Given the description of an element on the screen output the (x, y) to click on. 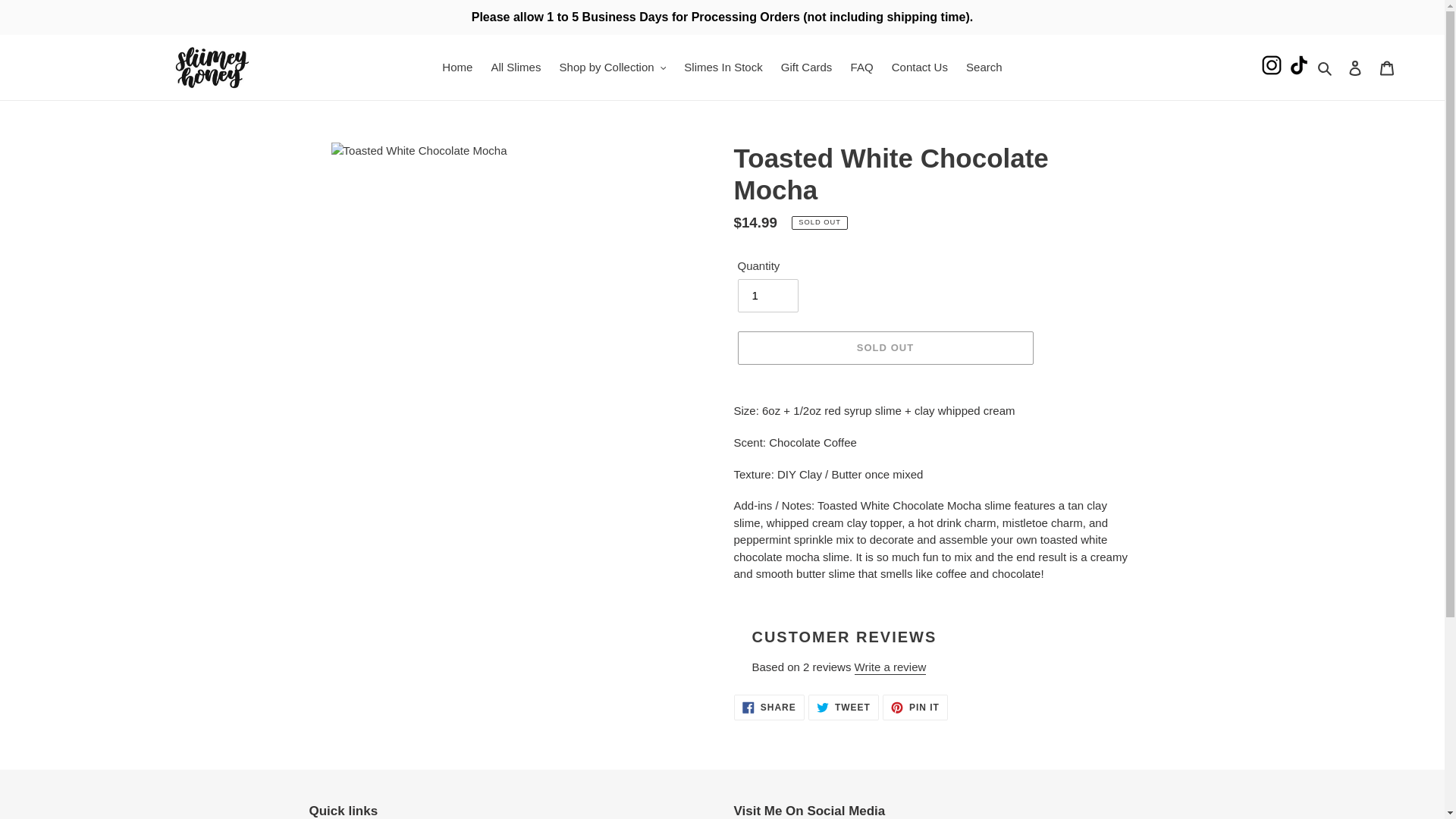
Gift Cards (806, 67)
Log in (1355, 67)
Slimes In Stock (723, 67)
Cart (1387, 67)
All Slimes (515, 67)
Search (1326, 67)
Home (456, 67)
FAQ (861, 67)
Shop by Collection (612, 67)
1 (766, 295)
